Given the description of an element on the screen output the (x, y) to click on. 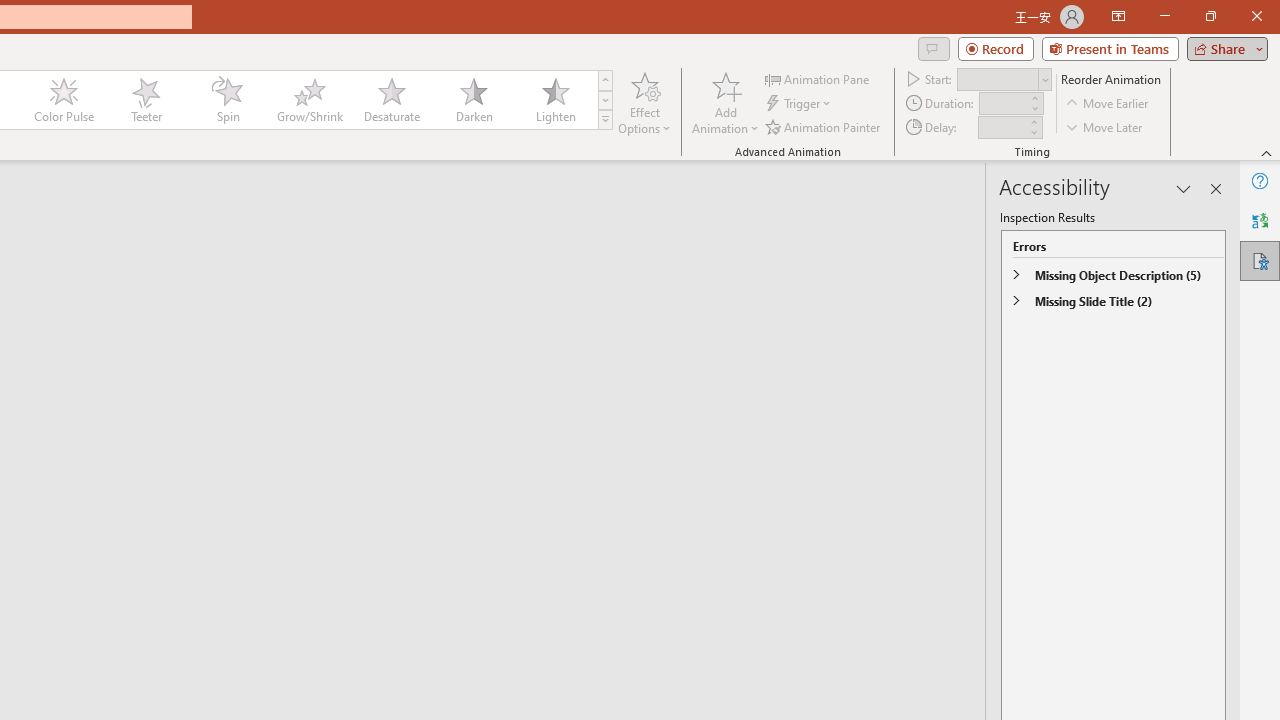
Darken (473, 100)
Animation Painter (824, 126)
Lighten (555, 100)
Animation Delay (1002, 127)
Trigger (799, 103)
Animation Duration (1003, 103)
Effect Options (644, 102)
Move Later (1105, 126)
